Given the description of an element on the screen output the (x, y) to click on. 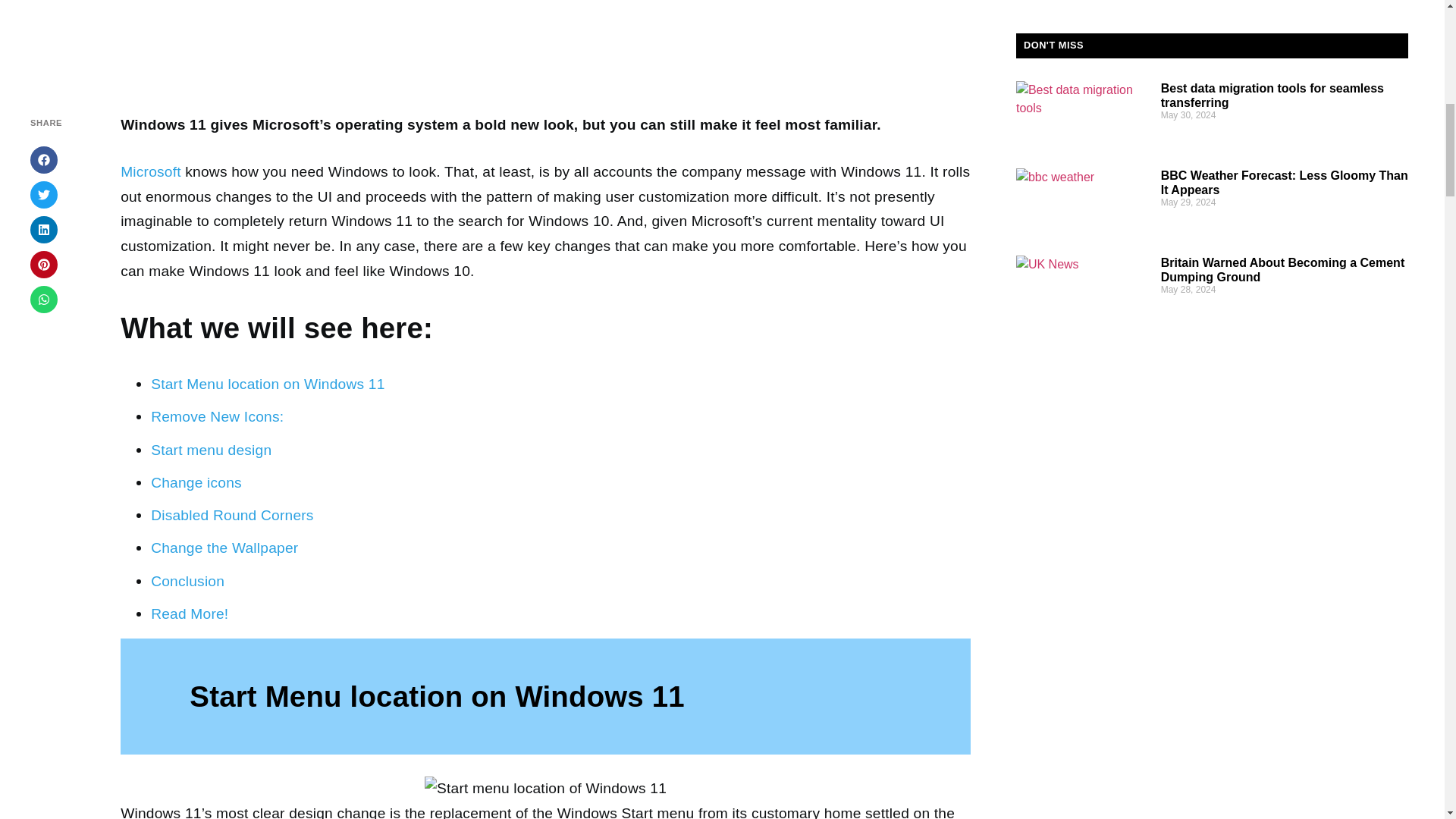
Change the Wallpaper (224, 547)
Change icons (196, 482)
Conclusion (187, 580)
Start menu design (210, 449)
Remove New Icons: (217, 416)
Start Menu location on Windows 11 (267, 383)
Disabled Round Corners (232, 514)
Read More! (189, 613)
How to make Windows 11 look and feel like Windows 10? 1 (545, 788)
Microsoft (150, 171)
